Given the description of an element on the screen output the (x, y) to click on. 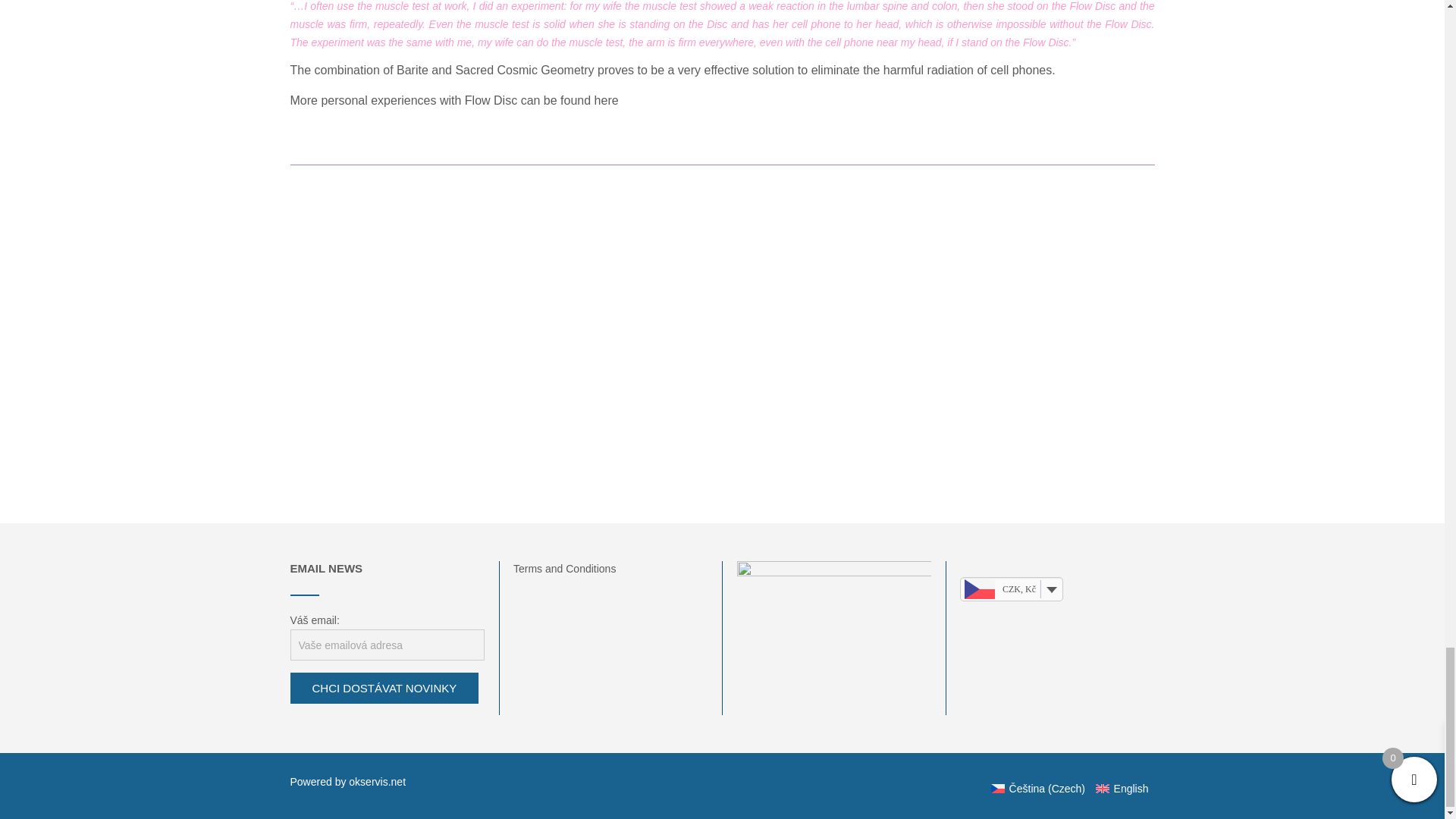
English (1119, 787)
can be found here (569, 100)
okservis.net (377, 781)
Terms and Conditions (564, 568)
